Given the description of an element on the screen output the (x, y) to click on. 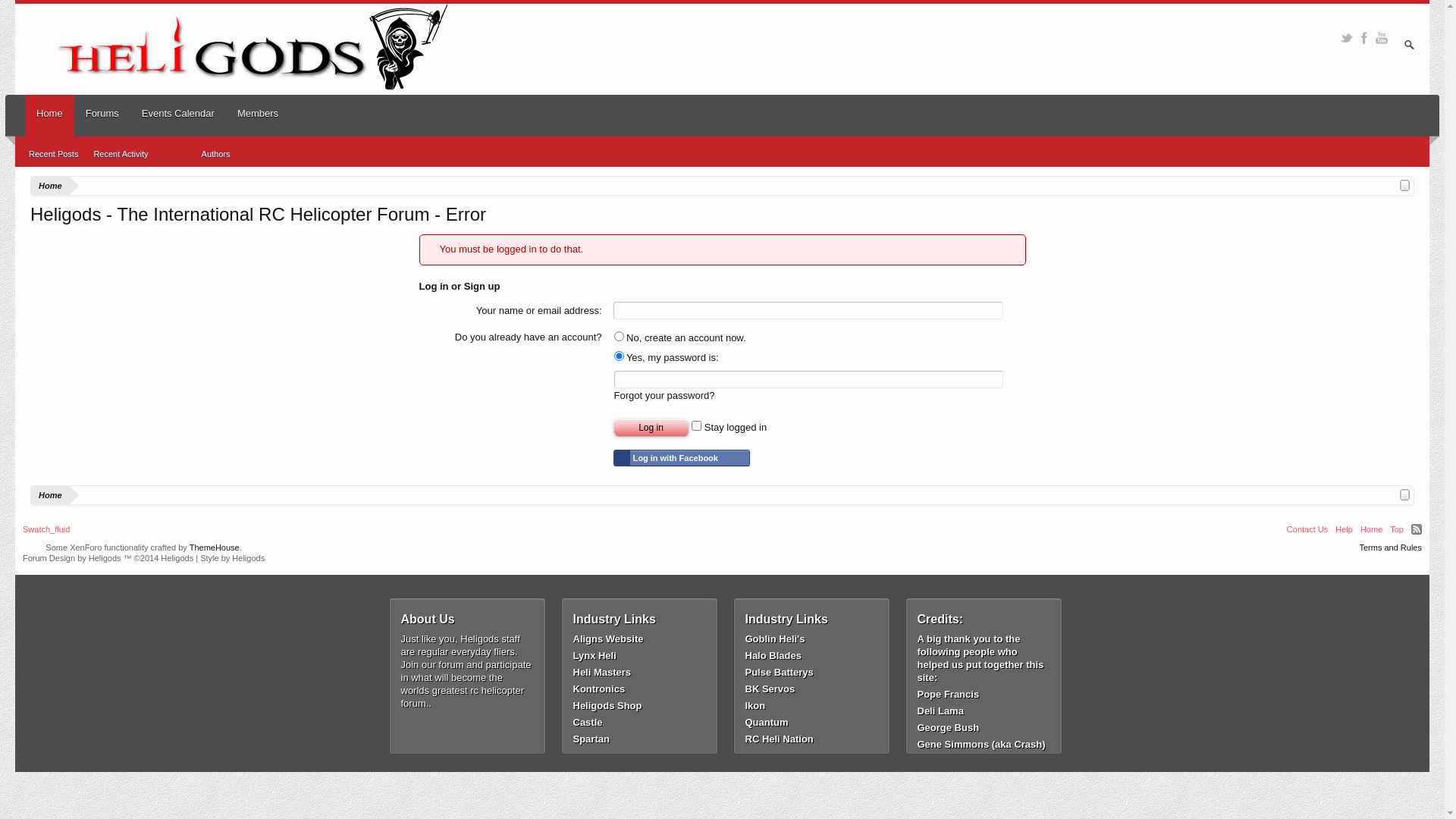
Events Calendar Element type: text (177, 113)
RC Heli Nation Element type: text (810, 738)
Swatch_fluid Element type: text (45, 529)
Home Element type: text (50, 495)
Spartan Element type: text (639, 738)
Recent Activity Element type: text (120, 152)
Goblin Heli's Element type: text (810, 638)
Open quick navigation Element type: hover (1404, 494)
Home Element type: text (49, 117)
Heligods Shop Element type: text (639, 705)
RSS Element type: text (1416, 529)
Home Element type: text (1371, 529)
Log in with Facebook Element type: text (680, 457)
Members Element type: text (257, 113)
Halo Blades Element type: text (810, 655)
Heli Masters Element type: text (639, 671)
Enter your search and hit enter Element type: hover (1408, 45)
Help Element type: text (1343, 529)
Aligns Website Element type: text (639, 638)
Pulse Batterys Element type: text (810, 671)
Top Element type: text (1396, 529)
Castle Element type: text (639, 721)
Kontronics Element type: text (639, 688)
Recent Posts Element type: text (53, 152)
Home Element type: text (50, 185)
Style by Heligods Element type: text (232, 557)
Lynx Heli Element type: text (639, 655)
Authors Element type: text (216, 152)
Quantum Element type: text (810, 721)
Ikon Element type: text (810, 705)
Forums Element type: text (102, 113)
BK Servos Element type: text (810, 688)
Forgot your password? Element type: text (664, 395)
Open quick navigation Element type: hover (1404, 185)
Terms and Rules Element type: text (1389, 547)
ThemeHouse Element type: text (214, 547)
Contact Us Element type: text (1307, 529)
Log in Element type: text (650, 427)
